Given the description of an element on the screen output the (x, y) to click on. 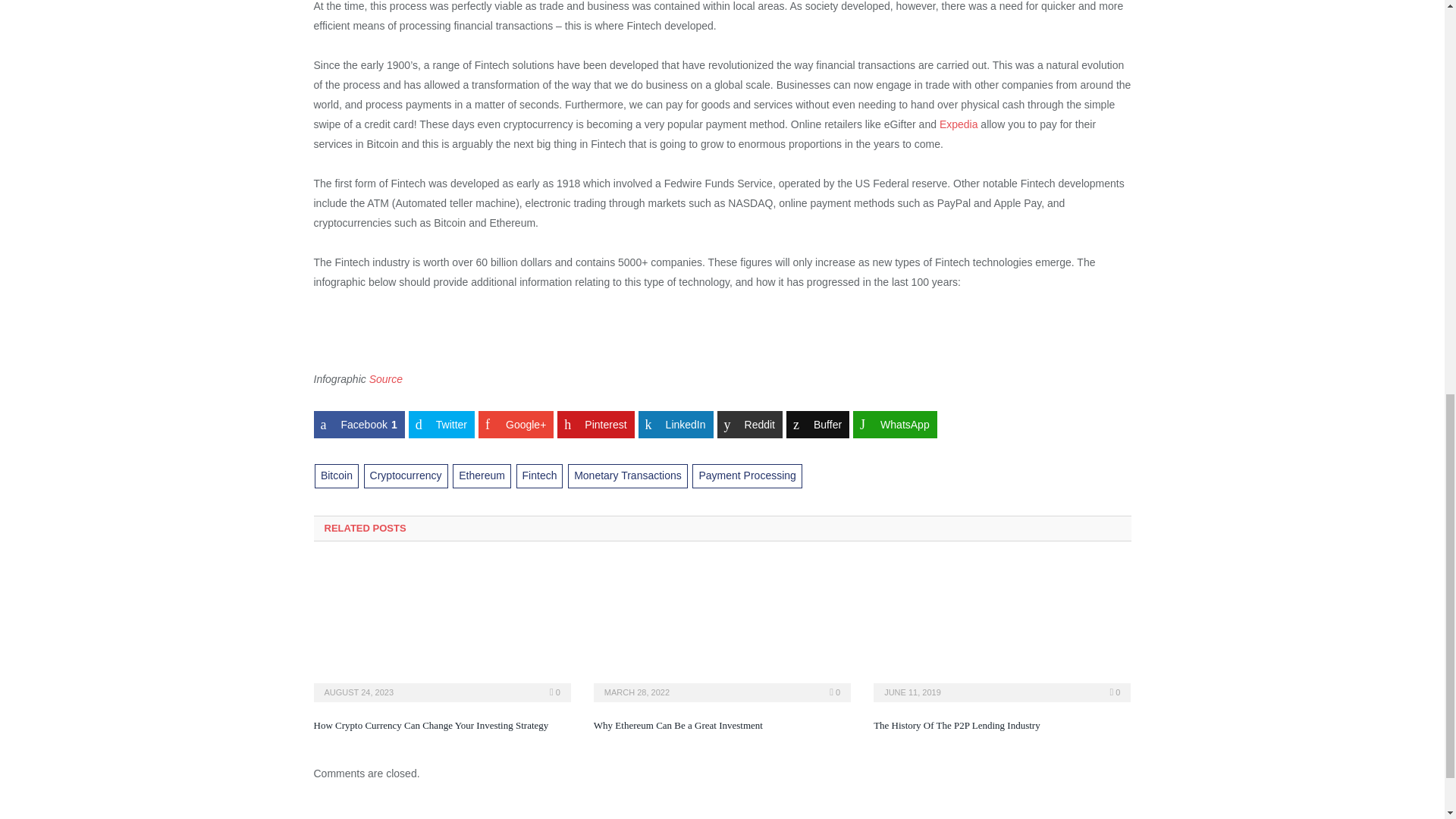
Expedia (958, 123)
Facebook1 (359, 424)
Source (386, 378)
